Given the description of an element on the screen output the (x, y) to click on. 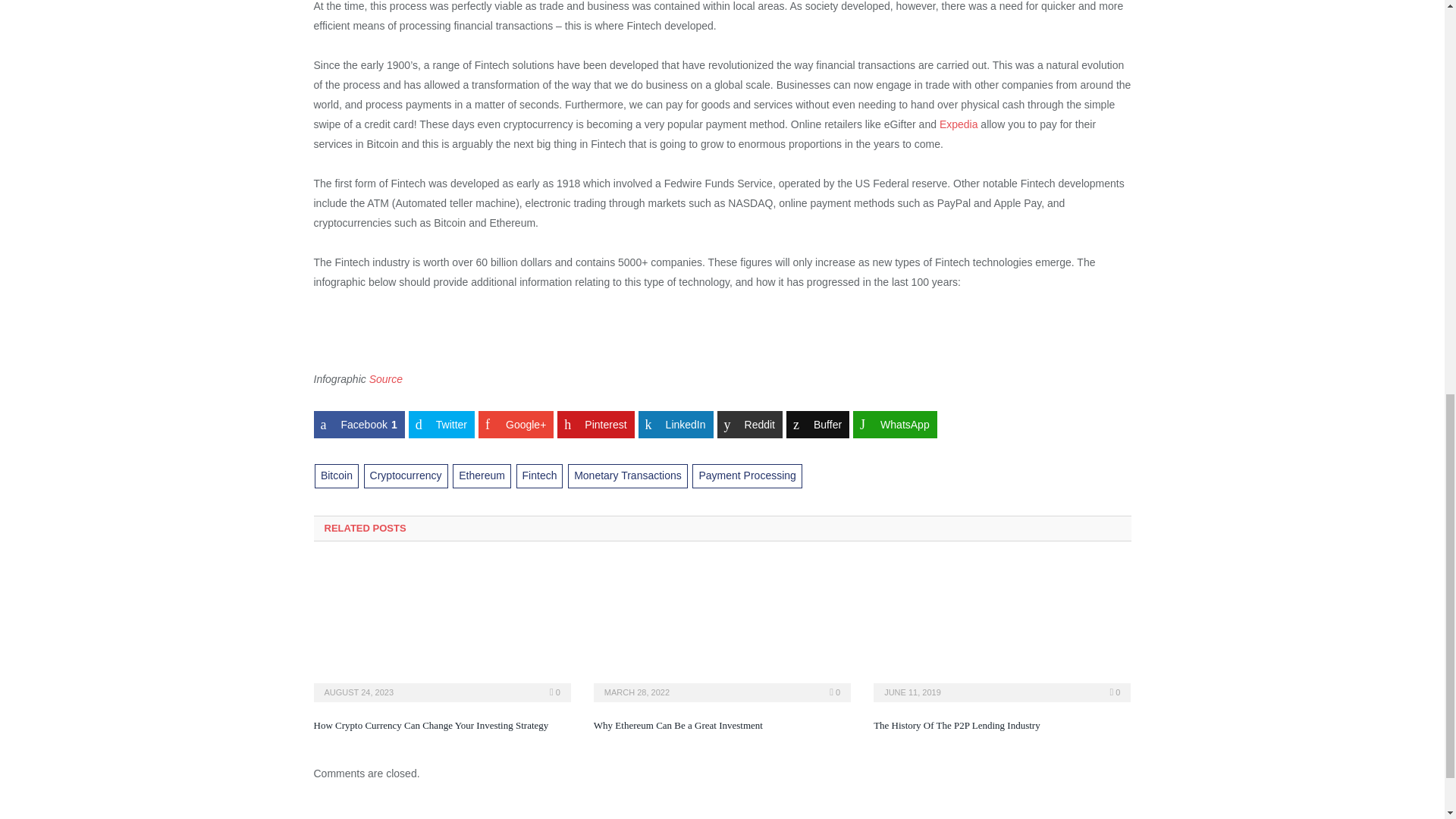
Expedia (958, 123)
Facebook1 (359, 424)
Source (386, 378)
